Given the description of an element on the screen output the (x, y) to click on. 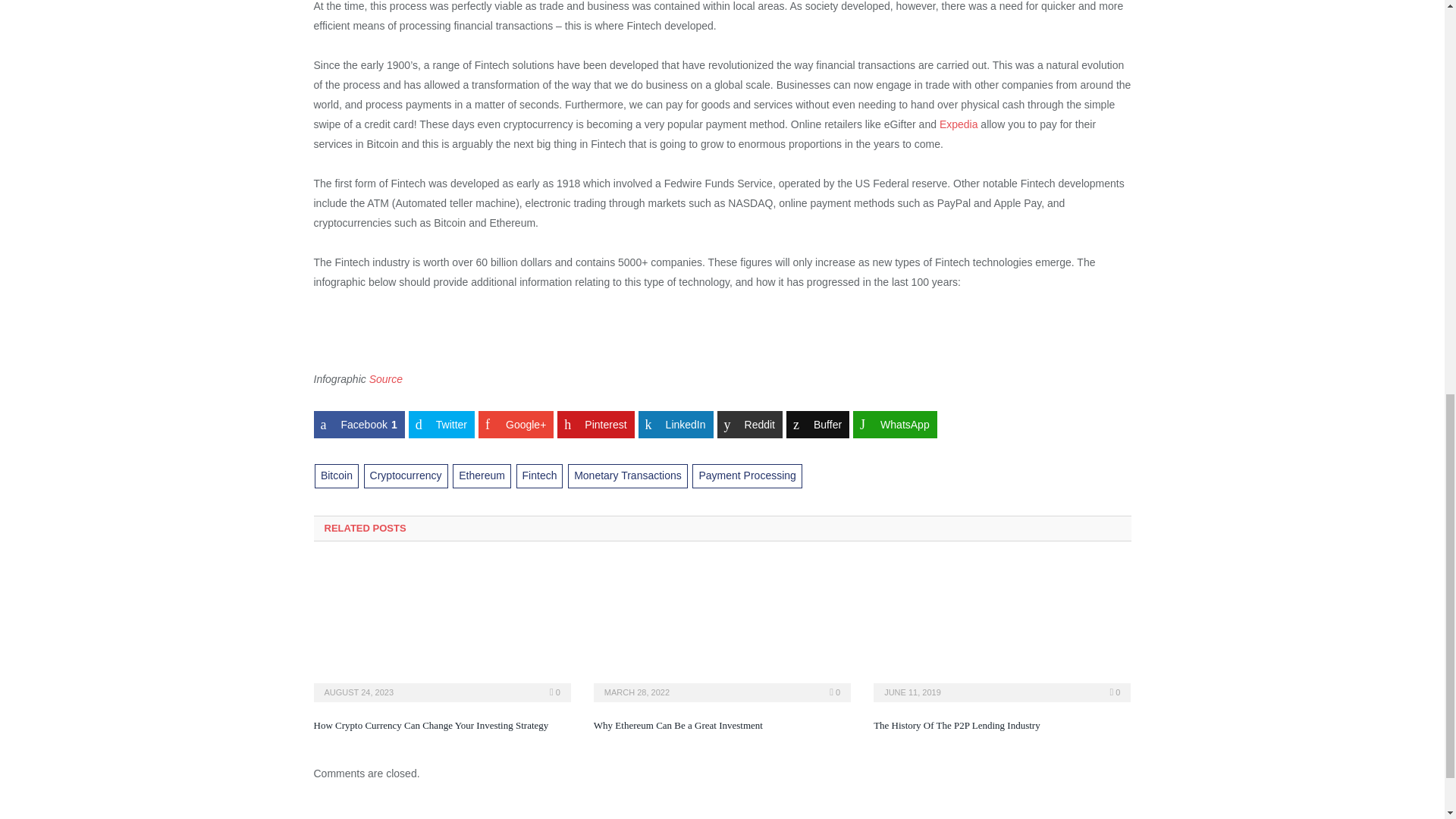
Expedia (958, 123)
Facebook1 (359, 424)
Source (386, 378)
